Given the description of an element on the screen output the (x, y) to click on. 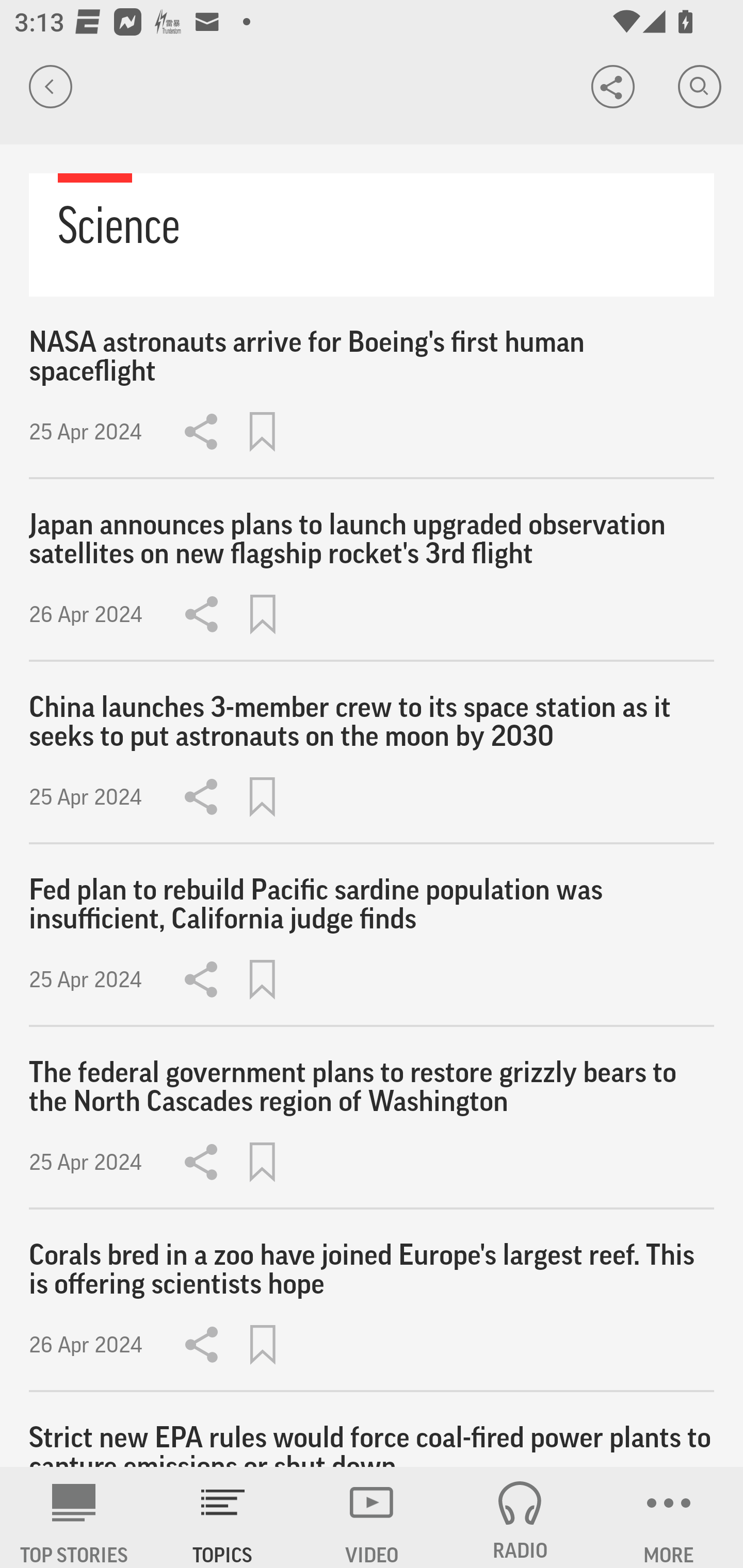
AP News TOP STORIES (74, 1517)
TOPICS (222, 1517)
VIDEO (371, 1517)
RADIO (519, 1517)
MORE (668, 1517)
